Given the description of an element on the screen output the (x, y) to click on. 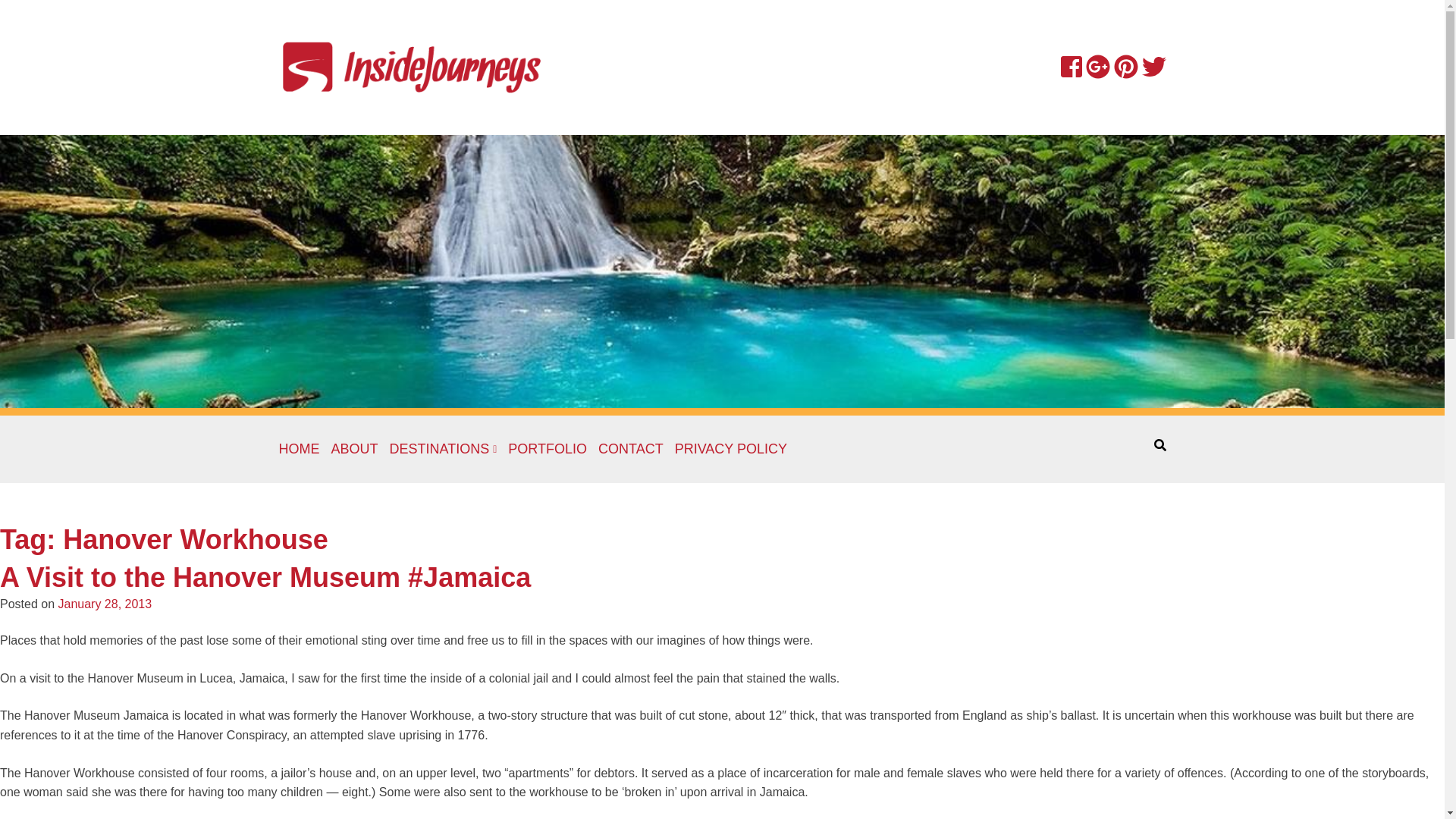
ABOUT (353, 449)
PRIVACY POLICY (731, 449)
PORTFOLIO (547, 449)
CONTACT (630, 449)
DESTINATIONS (443, 449)
InsideJourneys (411, 65)
HOME (299, 449)
